Given the description of an element on the screen output the (x, y) to click on. 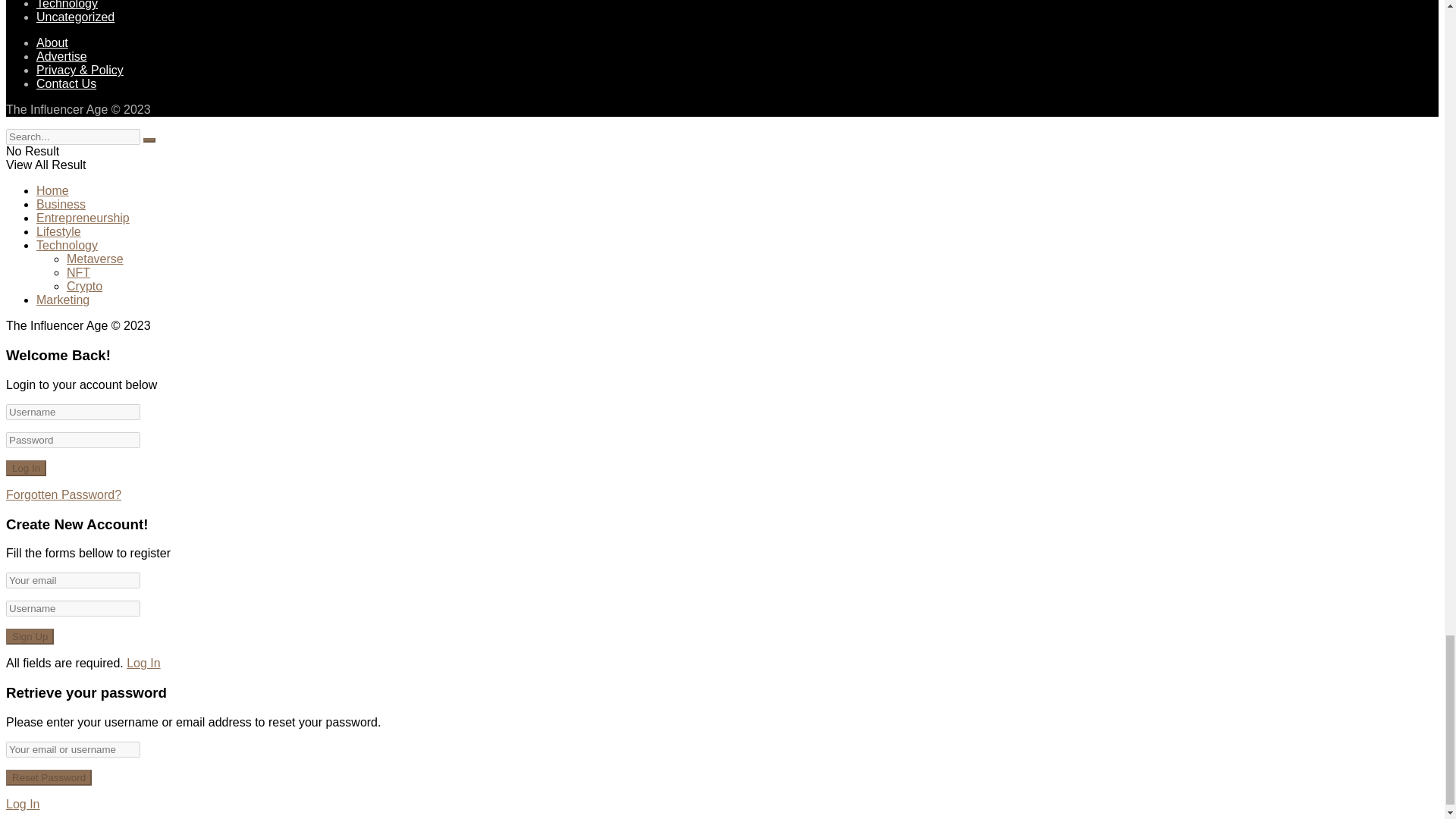
Reset Password (48, 777)
Log In (25, 467)
Sign Up (29, 636)
